Given the description of an element on the screen output the (x, y) to click on. 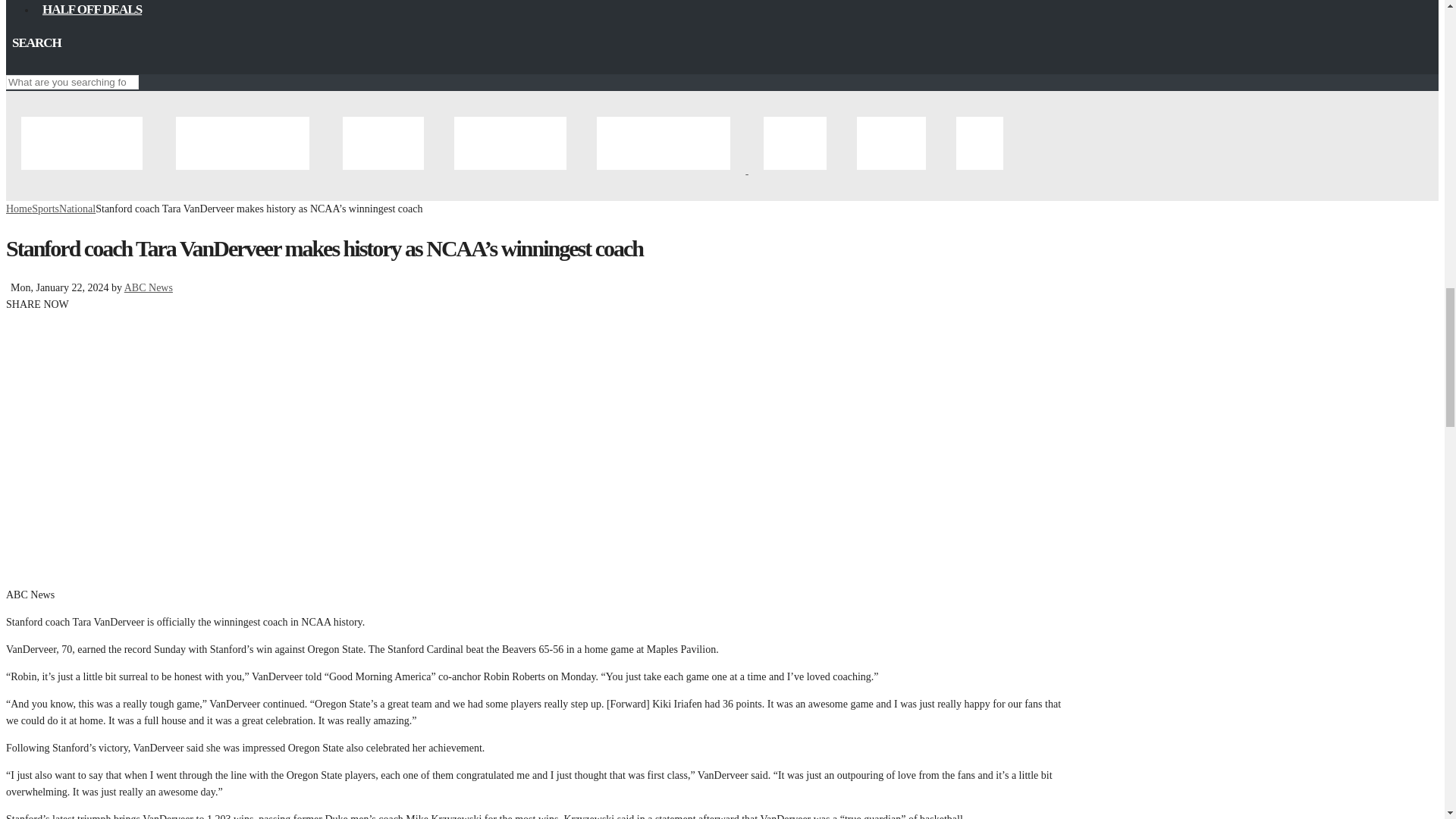
Posts by ABC News (148, 287)
Search for: (71, 82)
